Given the description of an element on the screen output the (x, y) to click on. 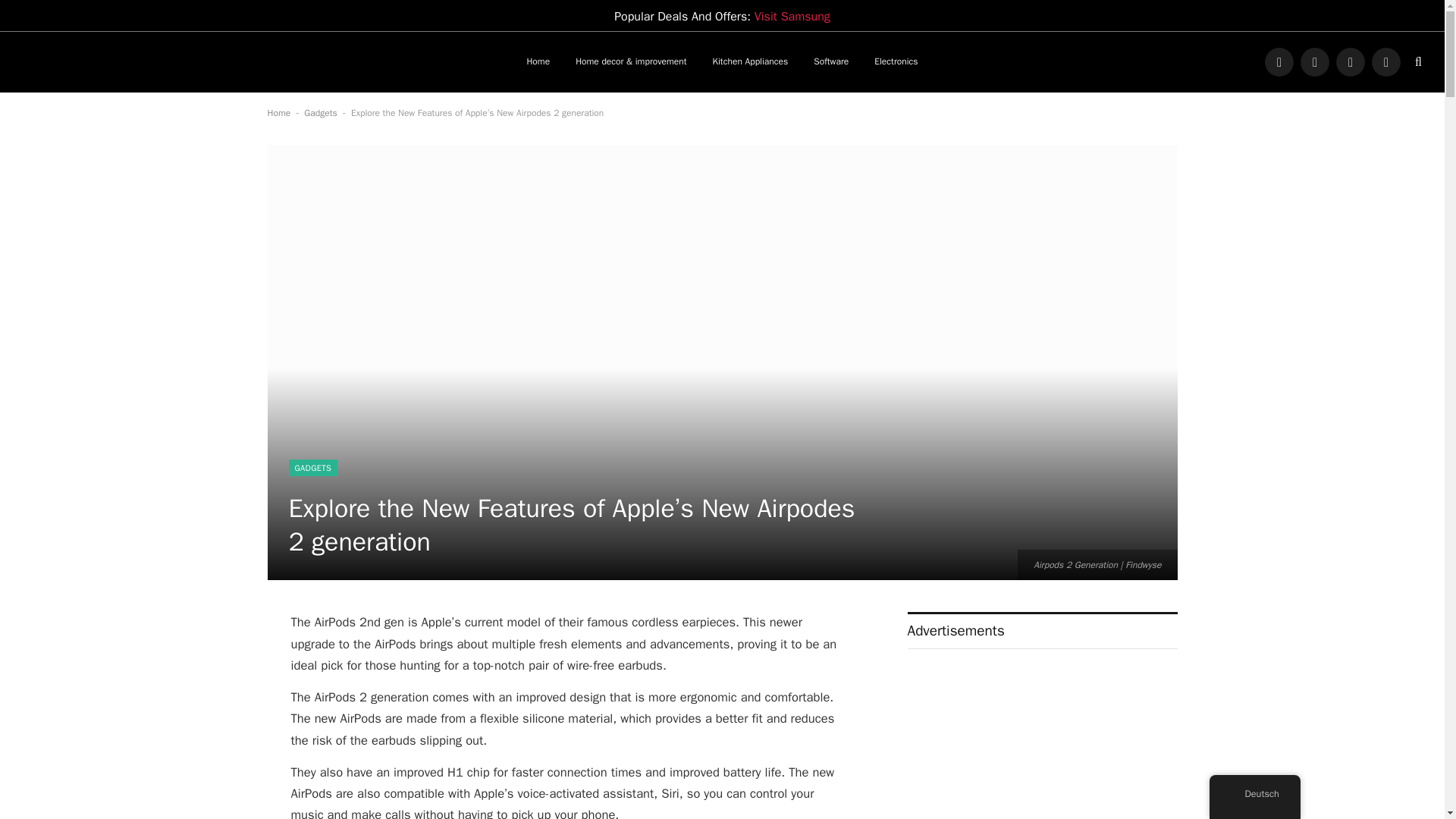
GADGETS (312, 467)
Facebook (1279, 61)
Electronics (895, 61)
Kitchen Appliances (751, 61)
Gadgets (320, 112)
Visit Samsung (791, 16)
Instagram (1350, 61)
Home (277, 112)
Pinterest (1385, 61)
Software (830, 61)
